Given the description of an element on the screen output the (x, y) to click on. 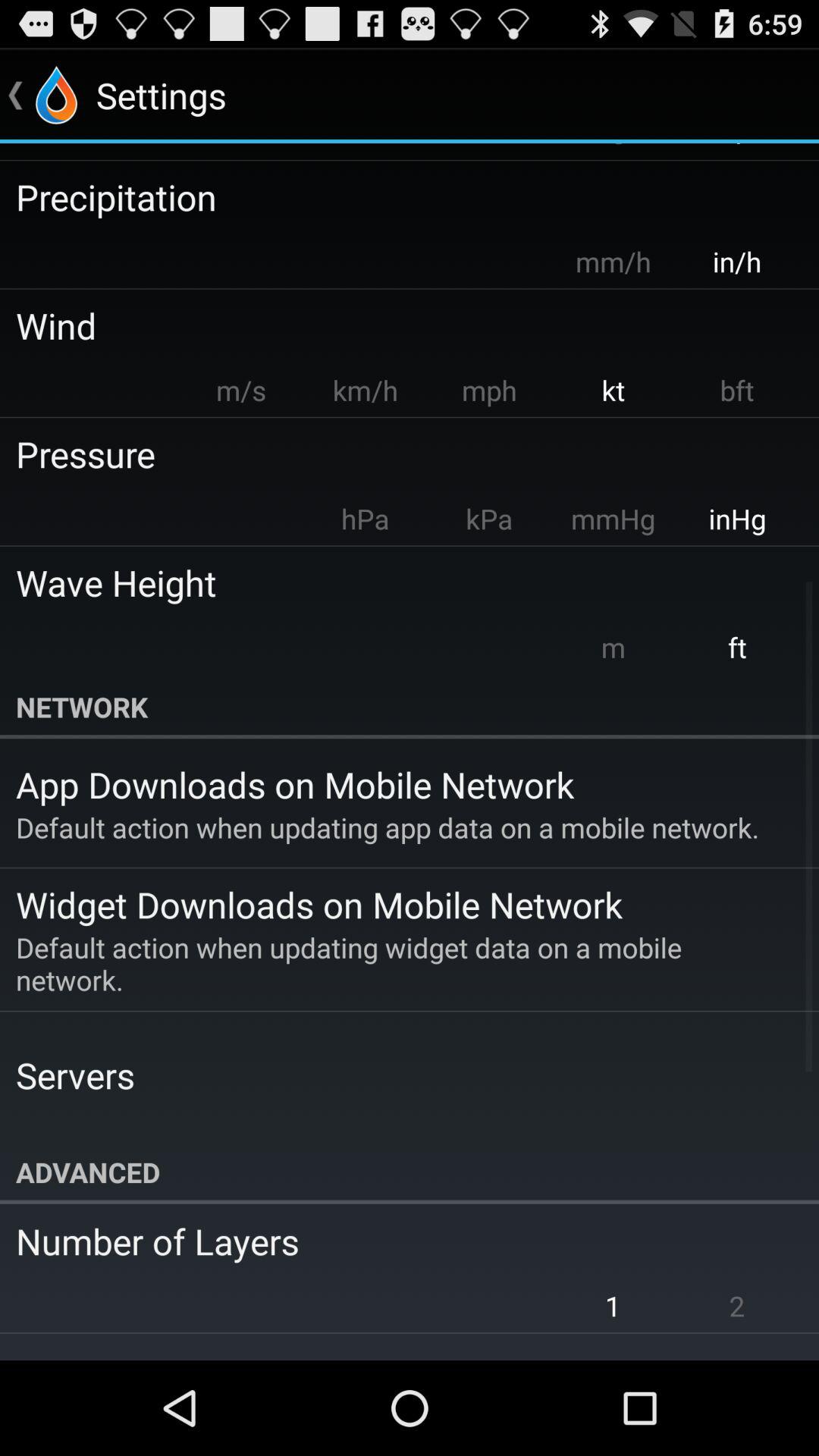
turn off the mmhg app (613, 518)
